Given the description of an element on the screen output the (x, y) to click on. 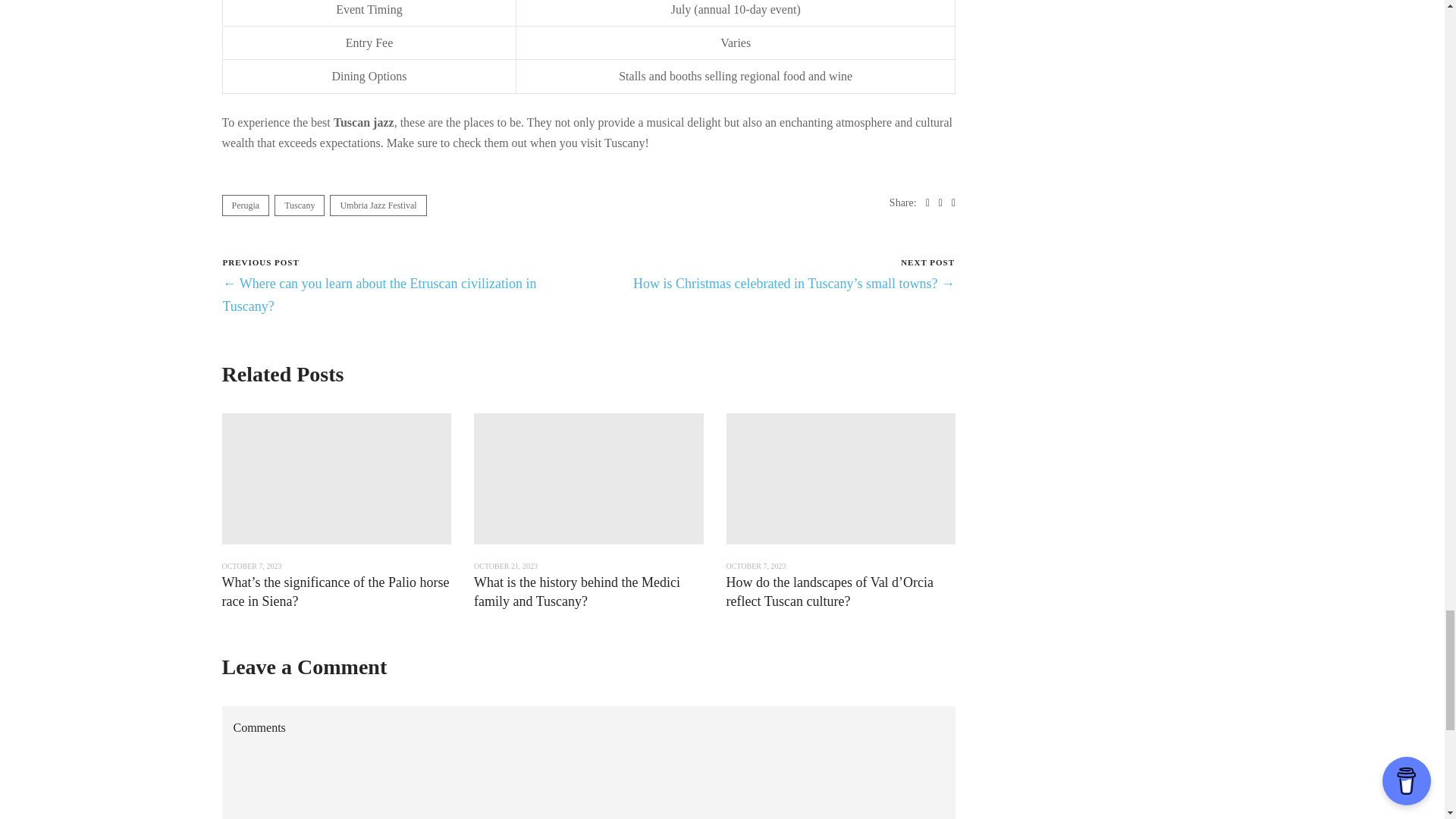
Perugia (245, 205)
What is the history behind the Medici family and Tuscany? (576, 591)
Umbria Jazz Festival (378, 205)
Tuscany (299, 205)
